Given the description of an element on the screen output the (x, y) to click on. 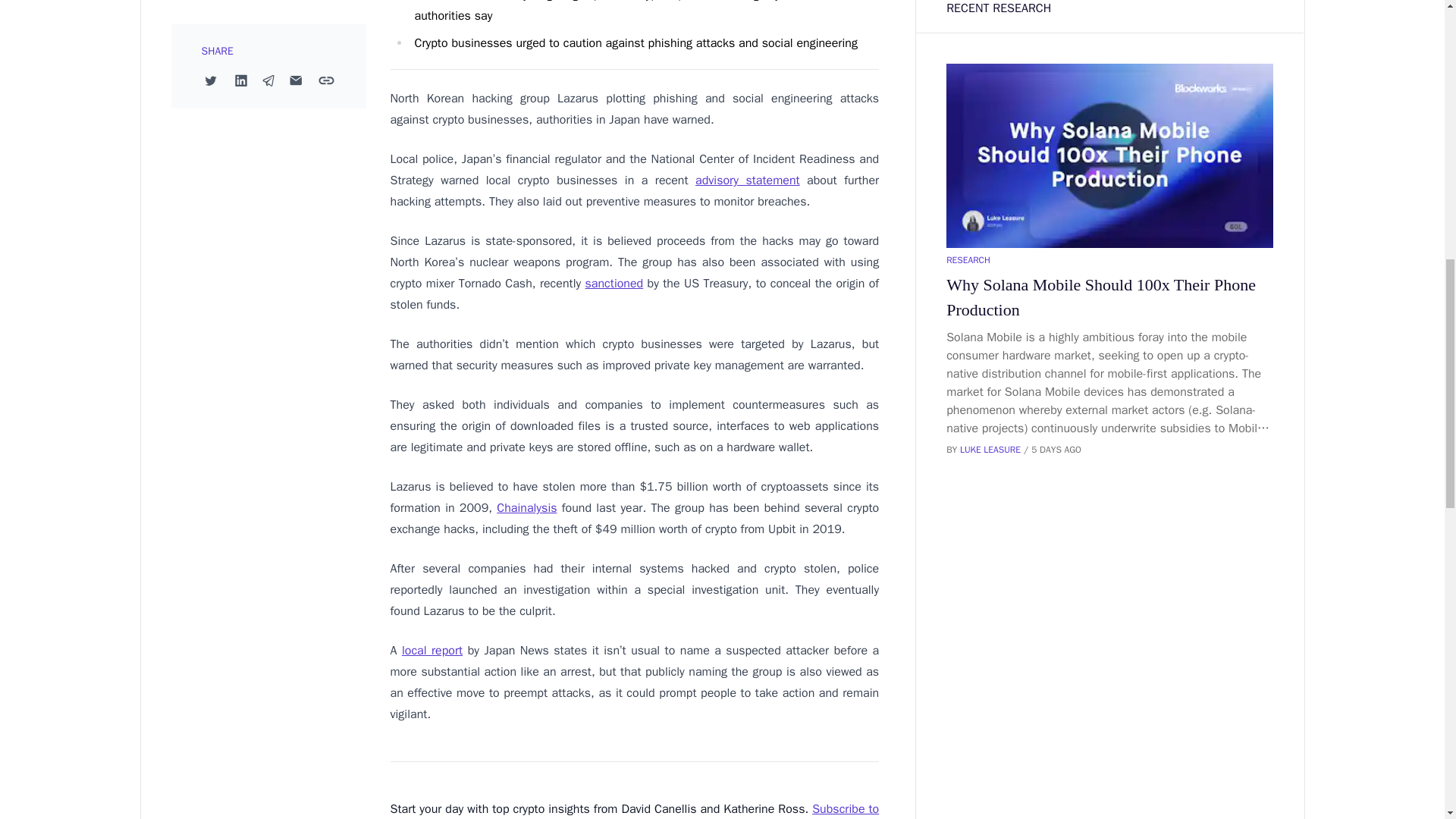
sanctioned (614, 283)
local report (432, 650)
Chainalysis (526, 507)
Subscribe to the Empire newsletter (634, 810)
advisory statement (747, 180)
